Given the description of an element on the screen output the (x, y) to click on. 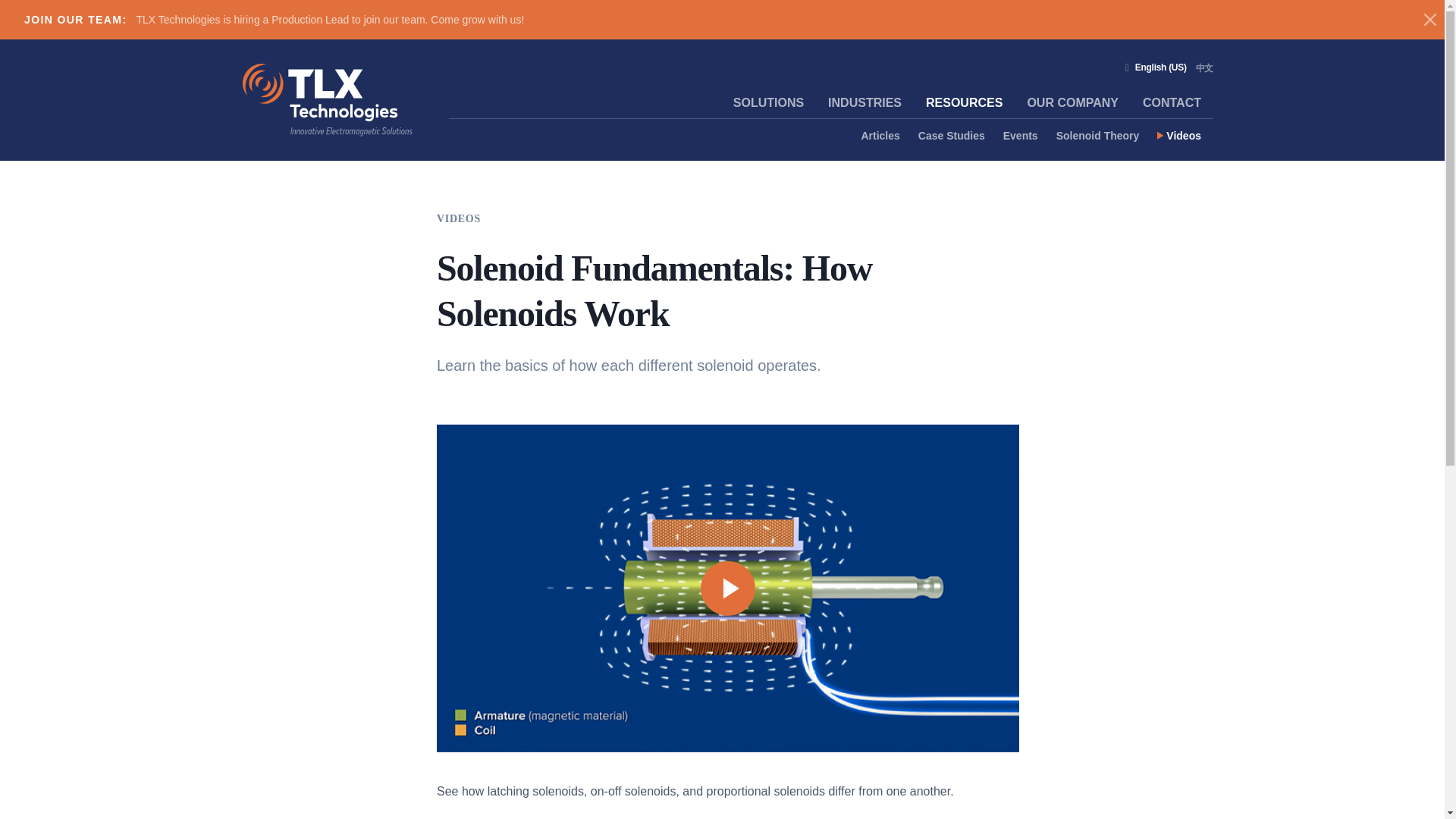
SOLUTIONS (767, 102)
RESOURCES (964, 102)
INDUSTRIES (864, 102)
TLX Homepage (327, 99)
